Given the description of an element on the screen output the (x, y) to click on. 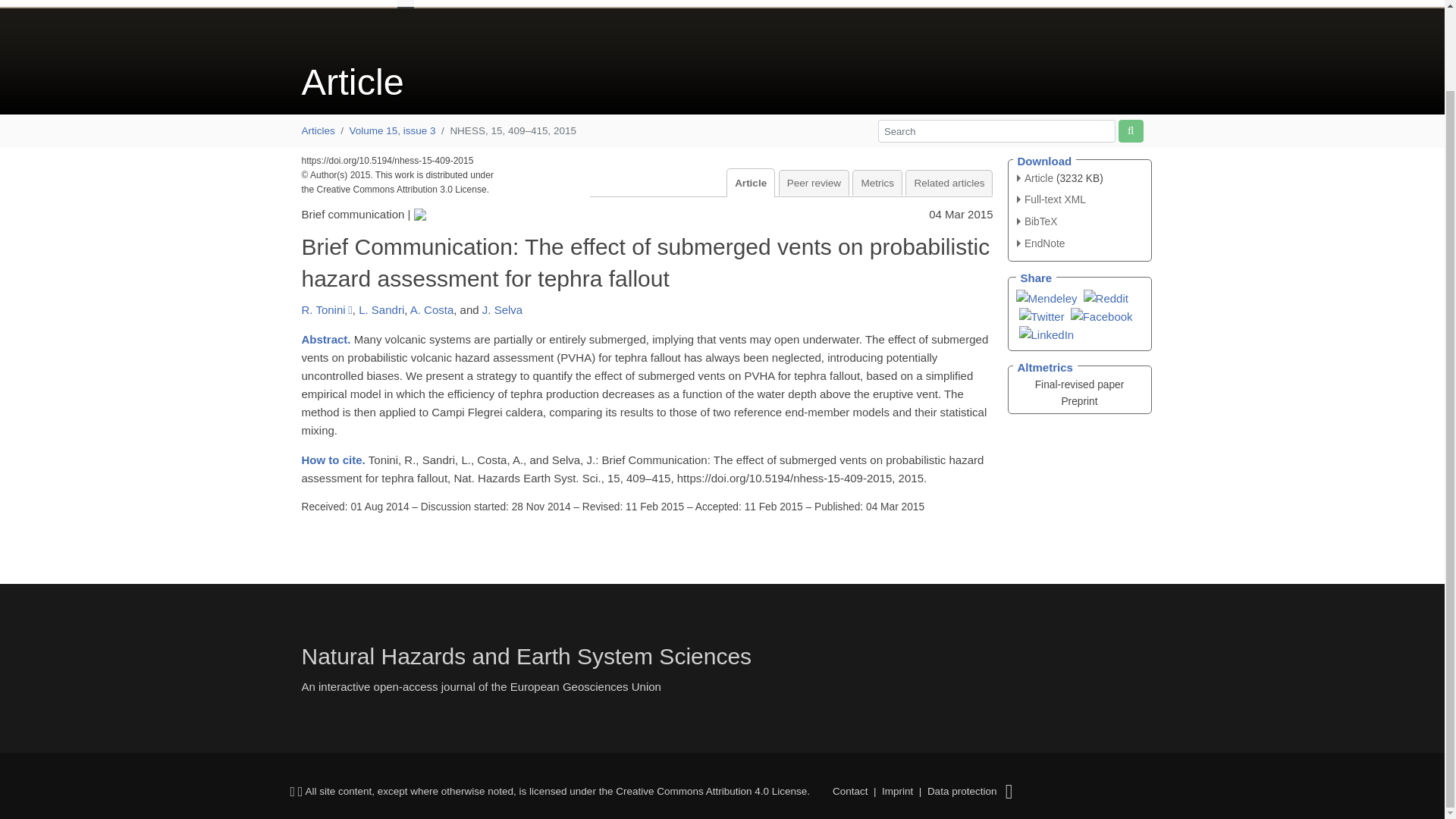
XML Version (1051, 199)
Twitter (1041, 315)
POLICIES (691, 4)
Facebook (1101, 315)
SUBMISSION (612, 4)
PEER REVIEW (781, 4)
Reddit (1105, 297)
Mendeley (1046, 297)
Start site search (1130, 130)
